Given the description of an element on the screen output the (x, y) to click on. 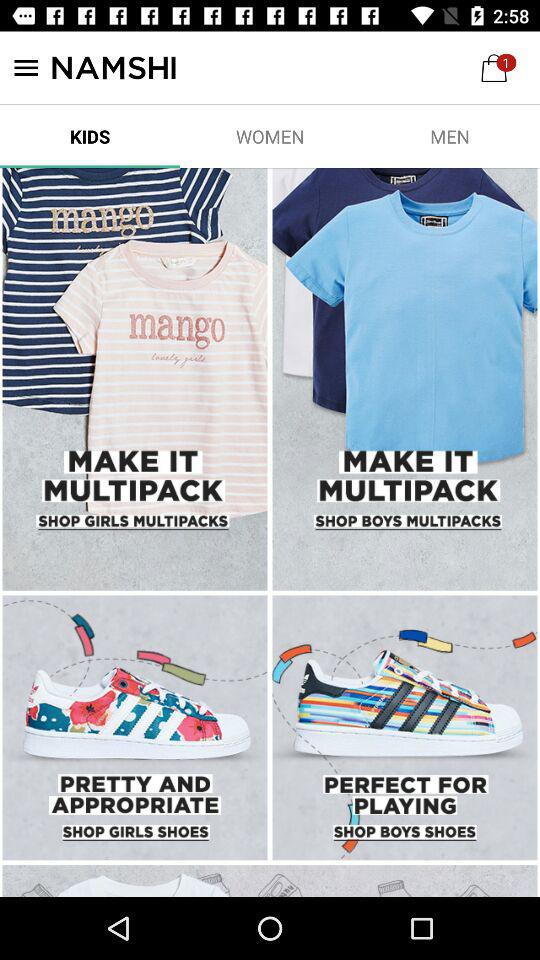
open the women icon (270, 136)
